Given the description of an element on the screen output the (x, y) to click on. 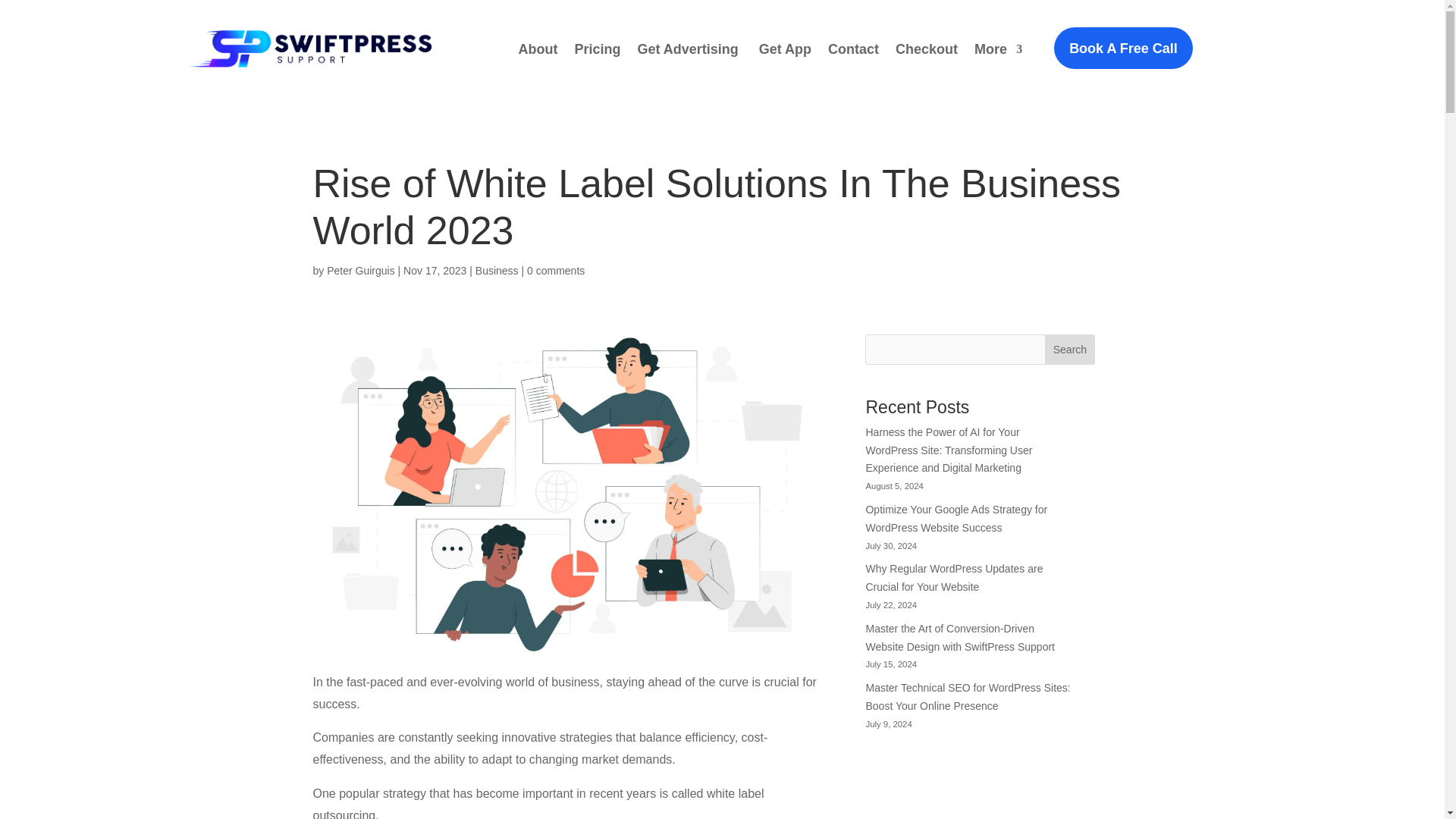
0 comments (556, 270)
Book A Free Call (1123, 47)
Business (497, 270)
Get App (784, 48)
Get Advertising  (689, 48)
